Given the description of an element on the screen output the (x, y) to click on. 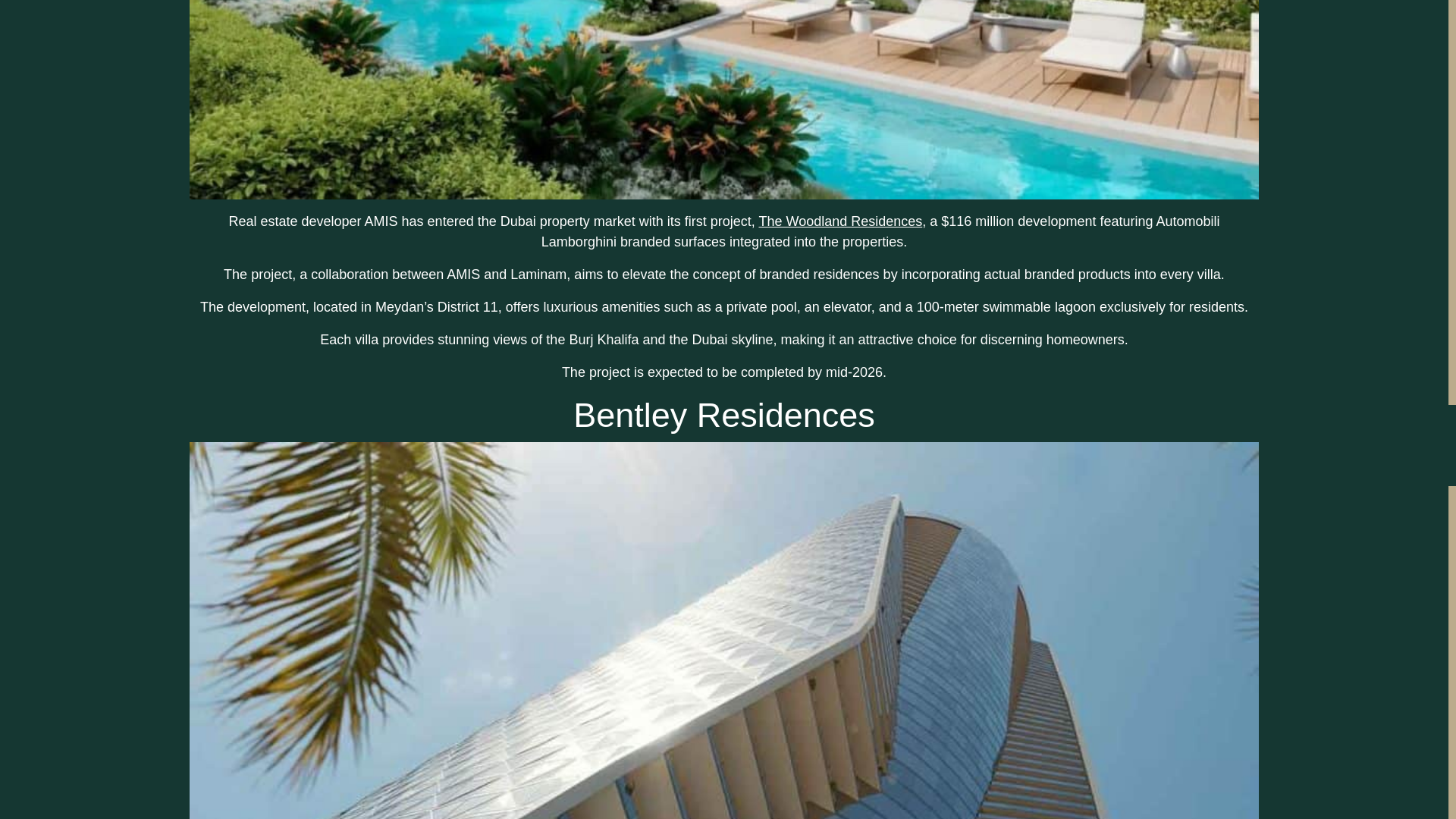
The Woodland Residences (839, 221)
